Given the description of an element on the screen output the (x, y) to click on. 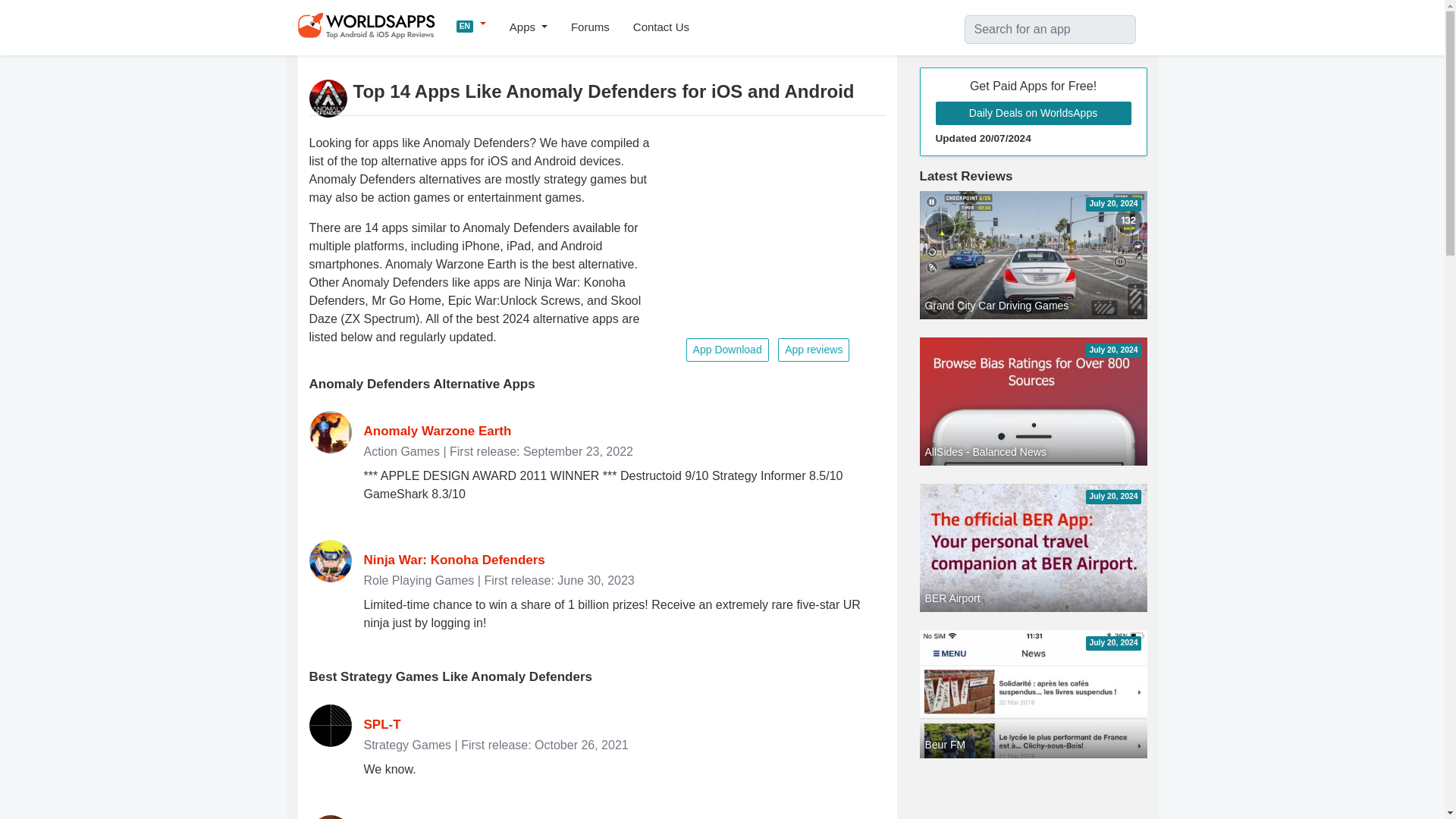
Daily Deals on WorldsApps (1033, 113)
App Download (726, 349)
Anomaly Warzone Earth (438, 431)
Ninja War: Konoha Defenders (454, 559)
EN (471, 24)
AllSides - Balanced News (1032, 538)
App reviews (812, 349)
Download BER Airport App (1032, 684)
Download AllSides - Balanced News App (1032, 538)
SPL-T (382, 724)
Grand City Car Driving Games (1032, 254)
Contact Us (660, 27)
Download Grand City Car Driving Games App (1032, 254)
BER Airport (1032, 684)
